Given the description of an element on the screen output the (x, y) to click on. 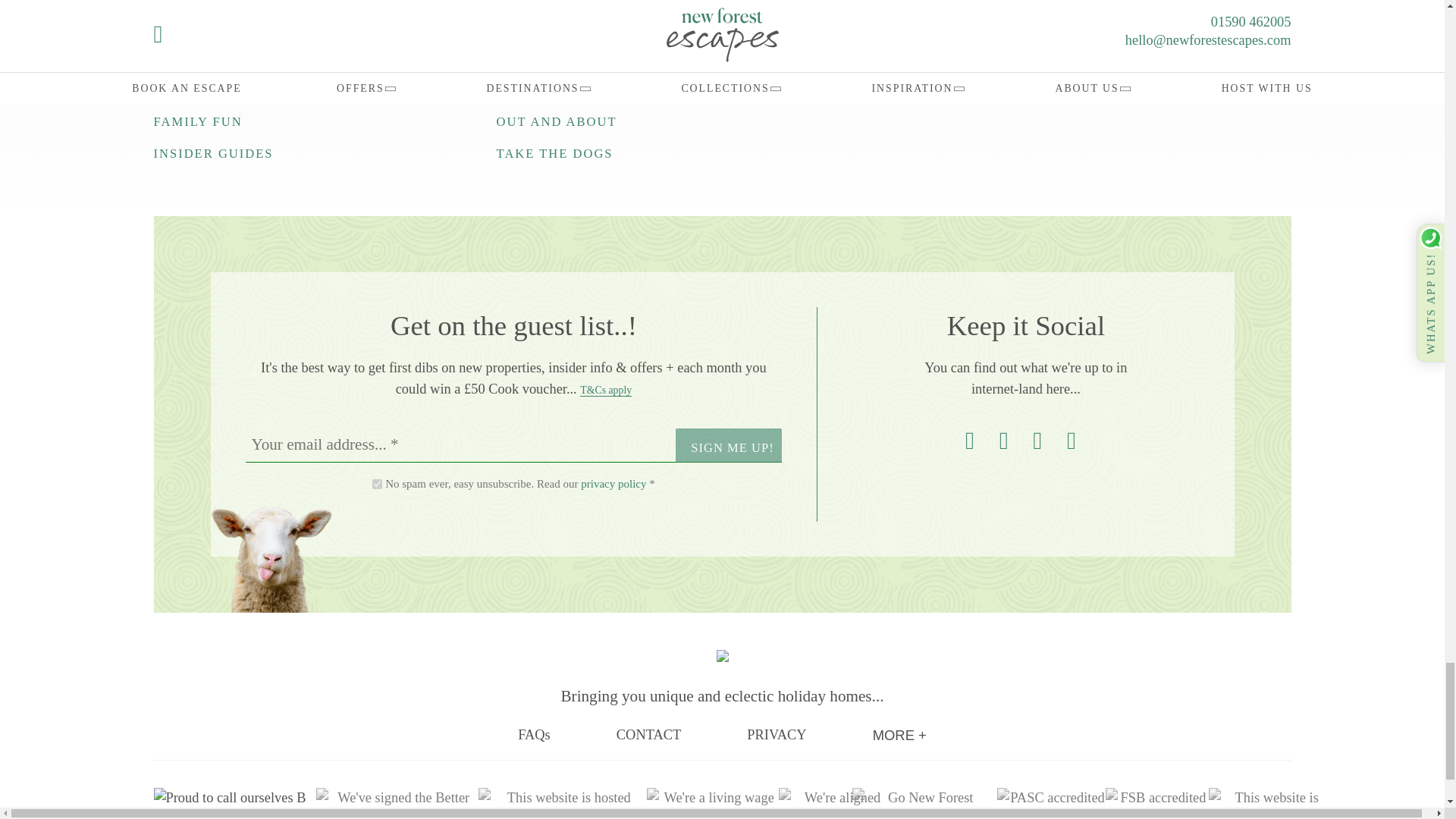
Sign me up! (728, 444)
